Given the description of an element on the screen output the (x, y) to click on. 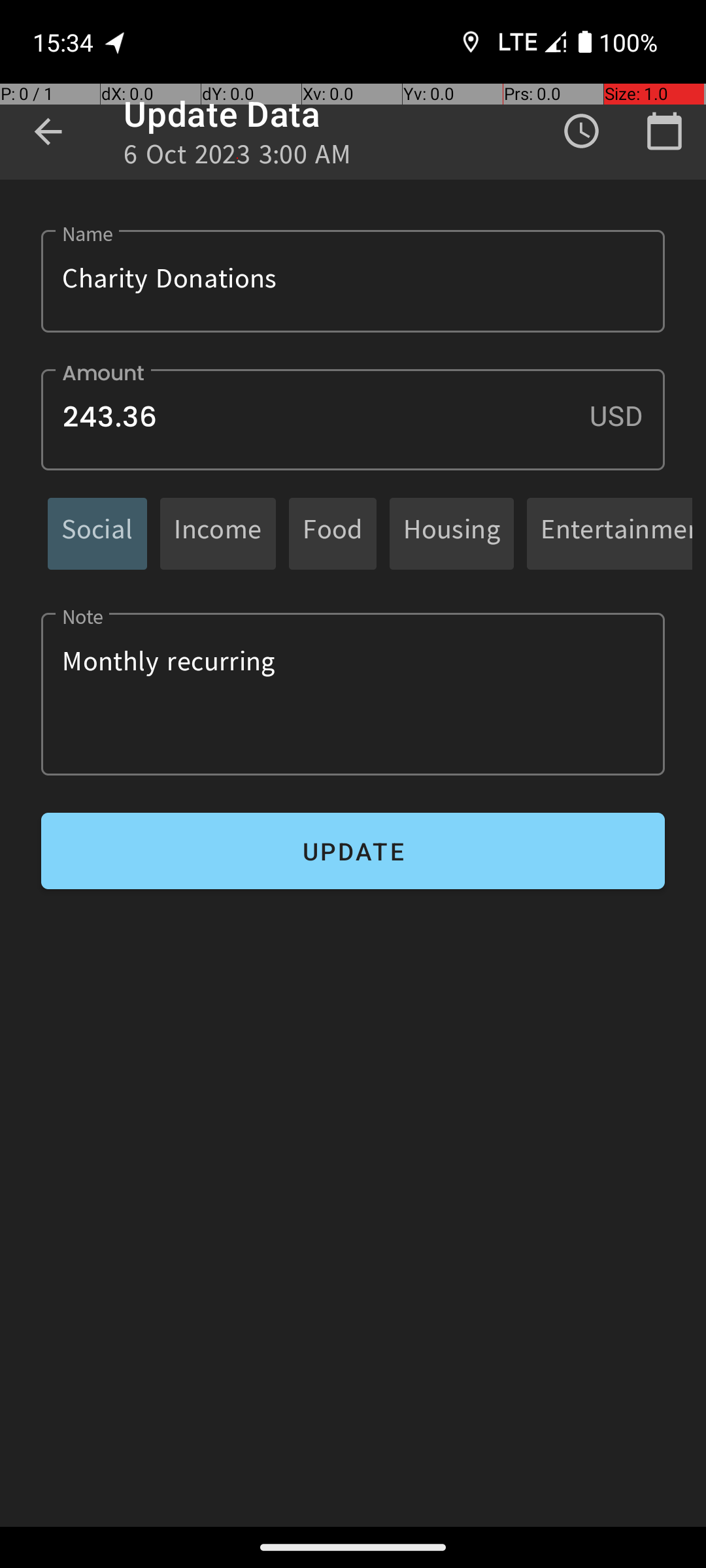
6 Oct 2023 3:00 AM Element type: android.widget.TextView (237, 157)
Charity Donations Element type: android.widget.EditText (352, 280)
243.36 Element type: android.widget.EditText (352, 419)
